Given the description of an element on the screen output the (x, y) to click on. 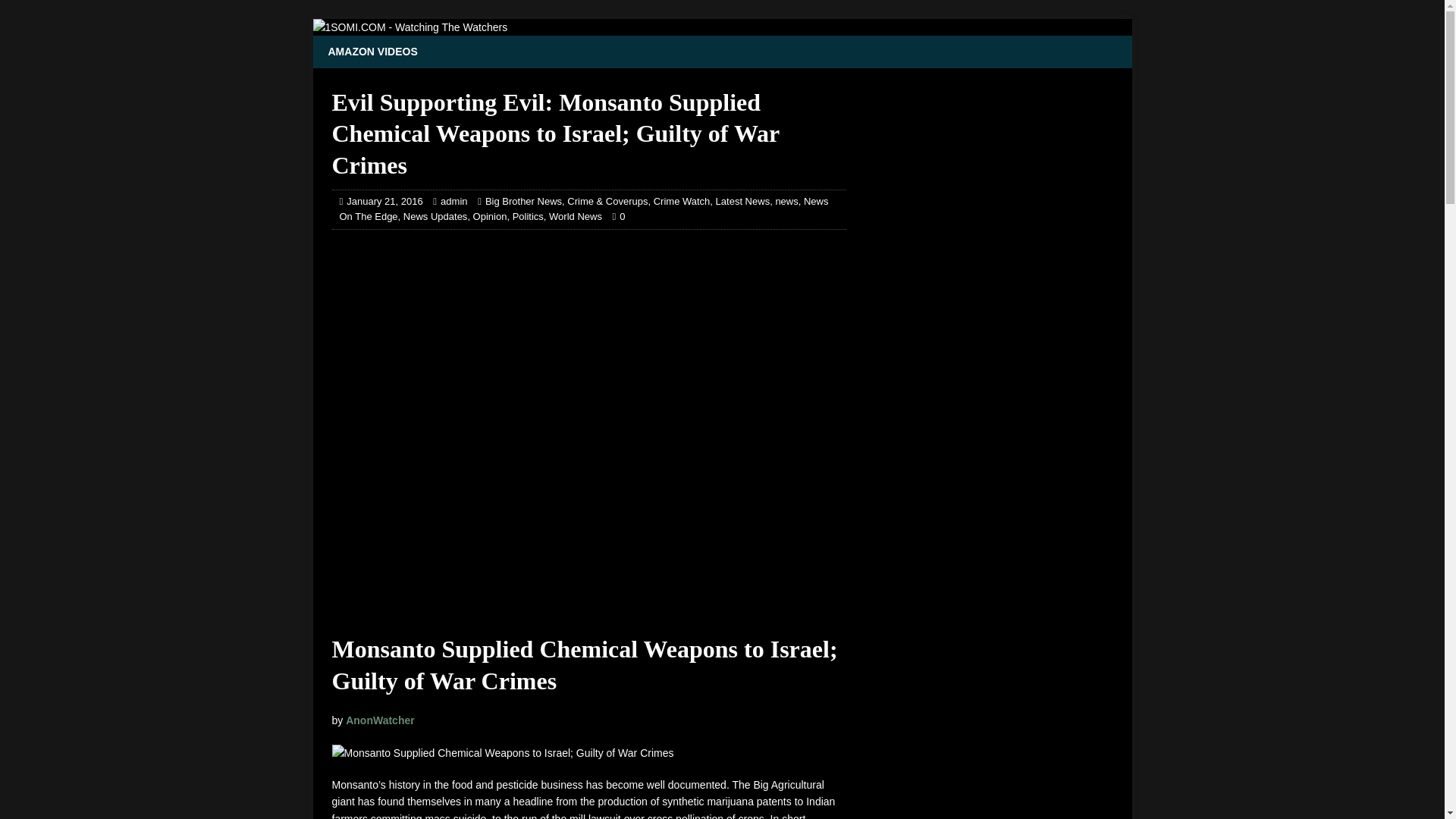
January 21, 2016 (384, 201)
World News (575, 215)
Latest News (743, 201)
Opinion (489, 215)
1SOMI.COM - Watching The Watchers (409, 27)
News Updates (435, 215)
Politics (527, 215)
admin (454, 201)
news (785, 201)
News On The Edge (583, 208)
